Given the description of an element on the screen output the (x, y) to click on. 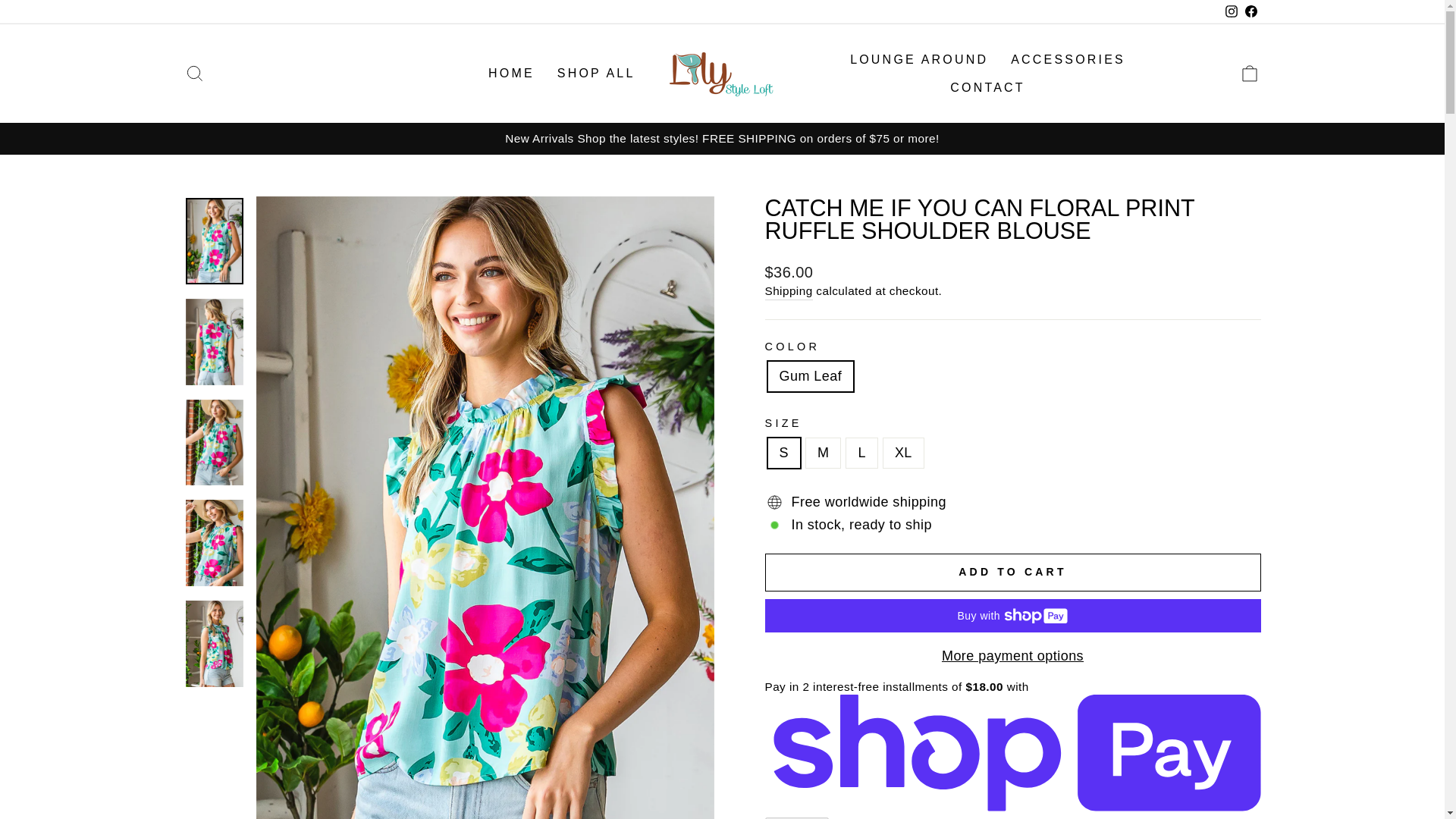
Lily Style Loft  on Facebook (1250, 11)
Lily Style Loft  on Instagram (1230, 11)
